Given the description of an element on the screen output the (x, y) to click on. 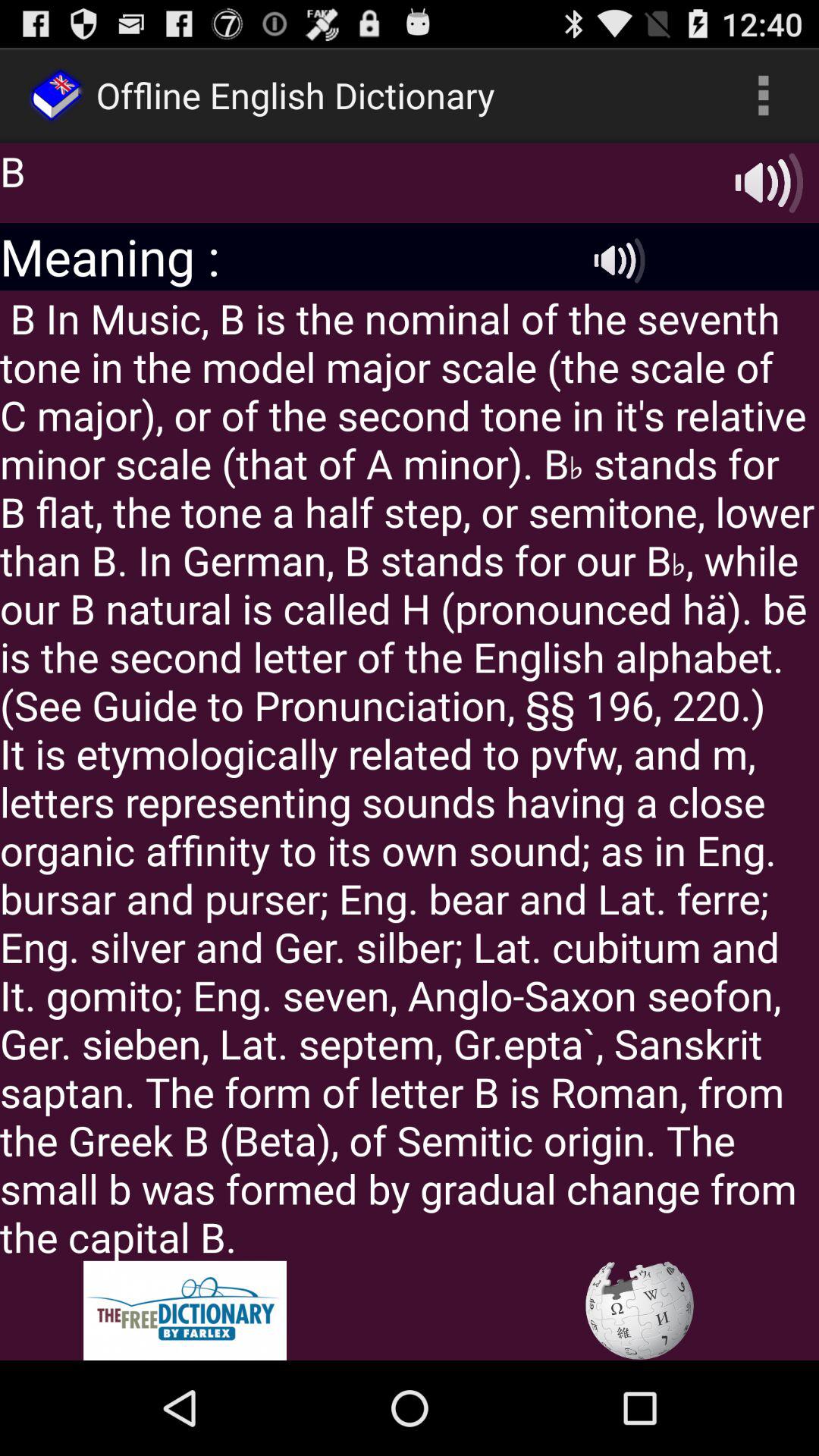
turn on b in music item (409, 775)
